Given the description of an element on the screen output the (x, y) to click on. 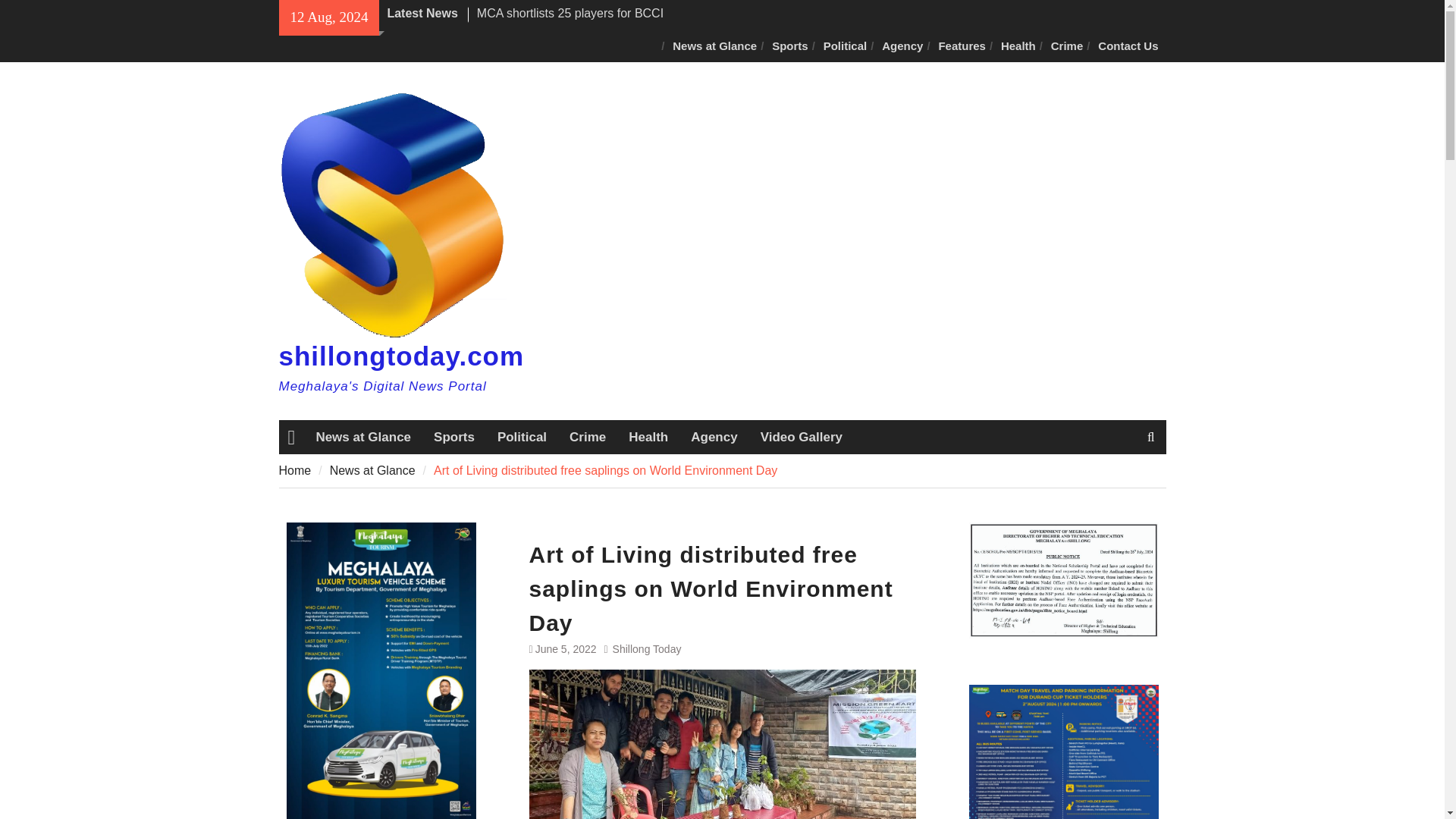
Features (961, 46)
Home (295, 470)
Political (845, 46)
Contact Us (1128, 46)
Video Gallery (801, 437)
Crime (1066, 46)
Crime (587, 437)
Political (521, 437)
Health (648, 437)
Shillong Today (646, 648)
